Given the description of an element on the screen output the (x, y) to click on. 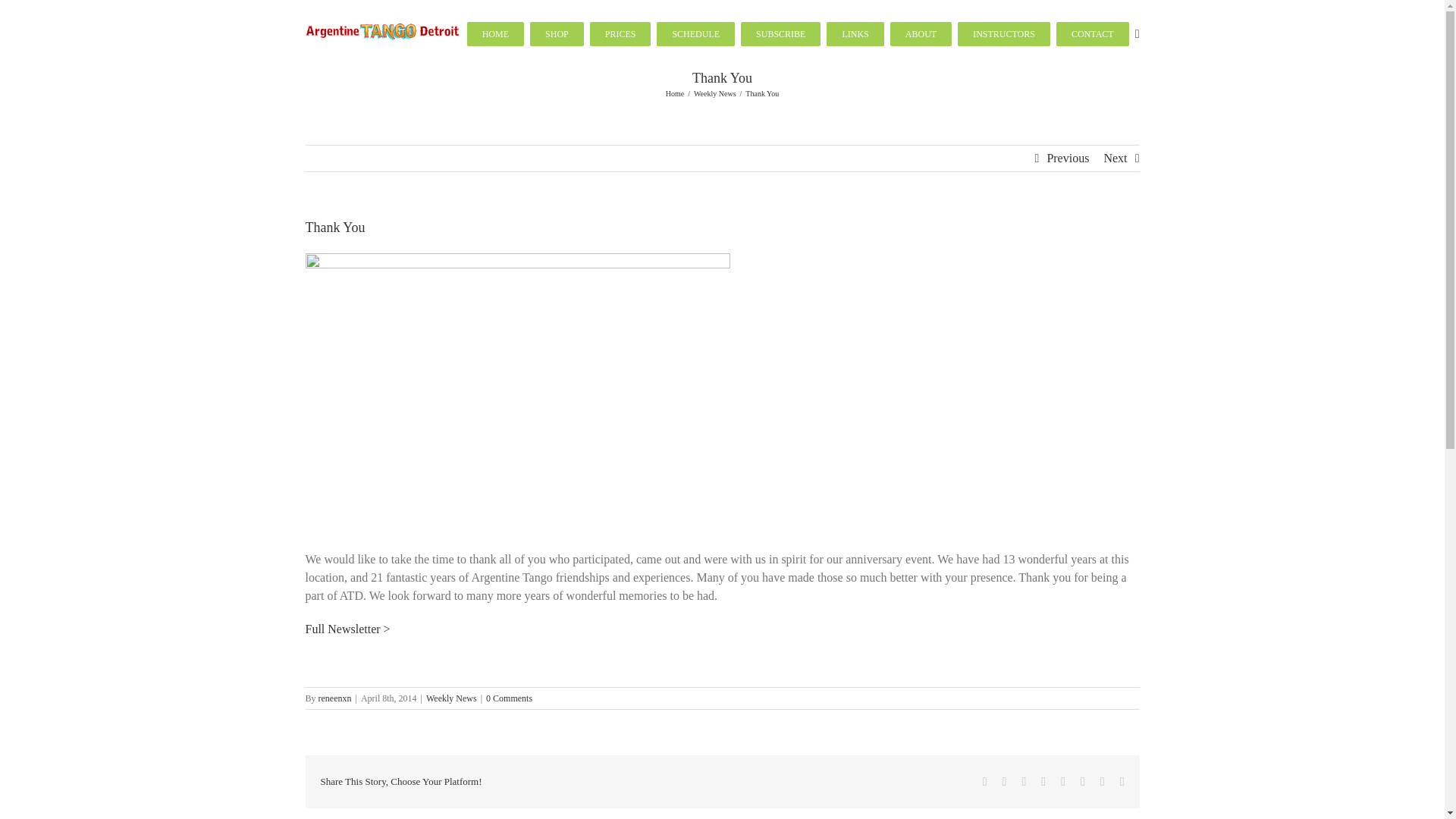
Weekly News (451, 697)
SCHEDULE (695, 32)
Home (674, 93)
Weekly News (715, 93)
SUBSCRIBE (781, 32)
Previous (1067, 158)
0 Comments (509, 697)
ABOUT (920, 32)
PRICES (619, 32)
reneenxn (335, 697)
